Given the description of an element on the screen output the (x, y) to click on. 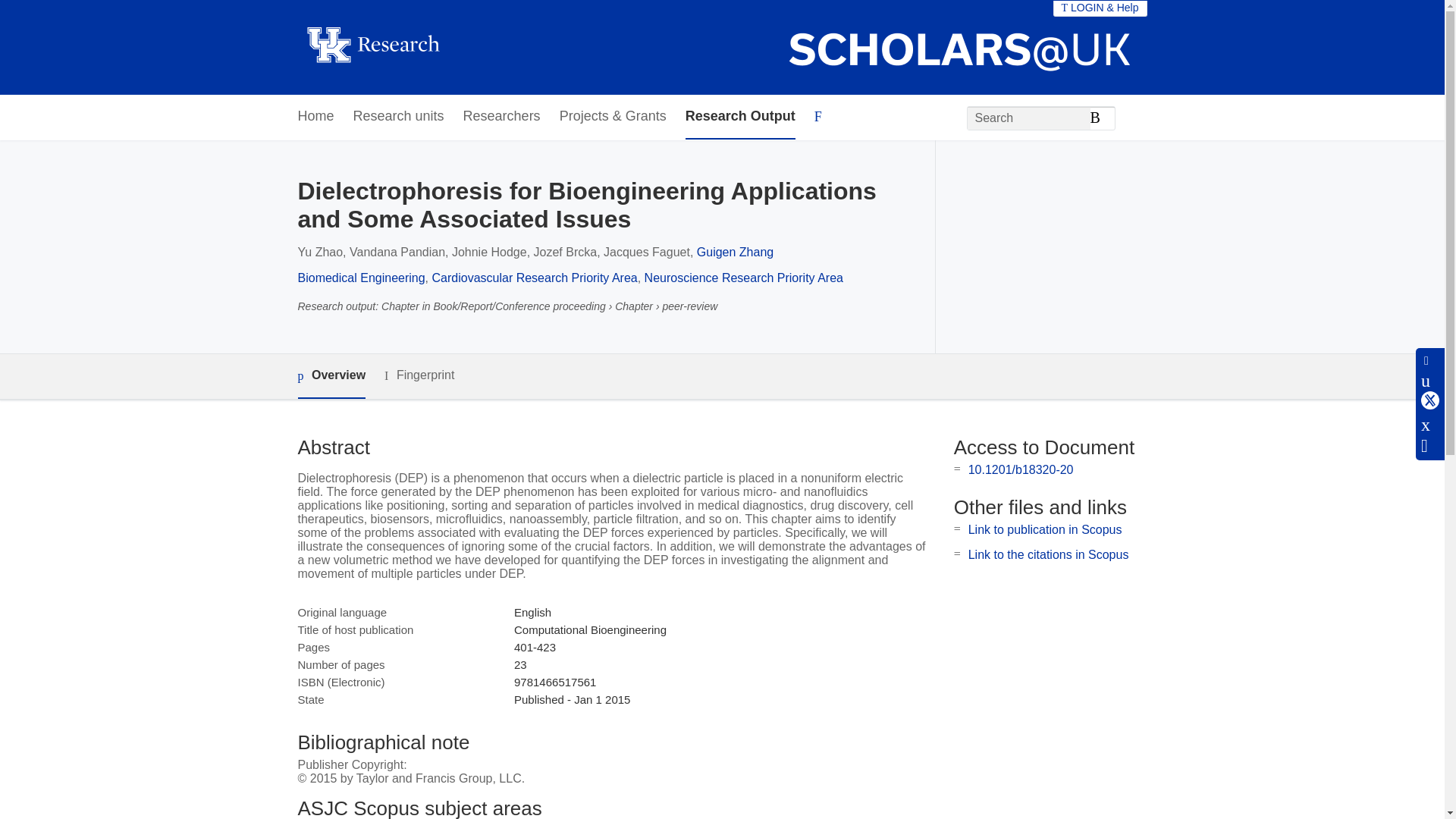
Link to publication in Scopus (1045, 529)
Fingerprint (419, 375)
Link to the citations in Scopus (1048, 554)
Researchers (501, 117)
Research units (398, 117)
Neuroscience Research Priority Area (744, 277)
Research Output (739, 117)
Biomedical Engineering (361, 277)
University of Kentucky Home (372, 47)
